Given the description of an element on the screen output the (x, y) to click on. 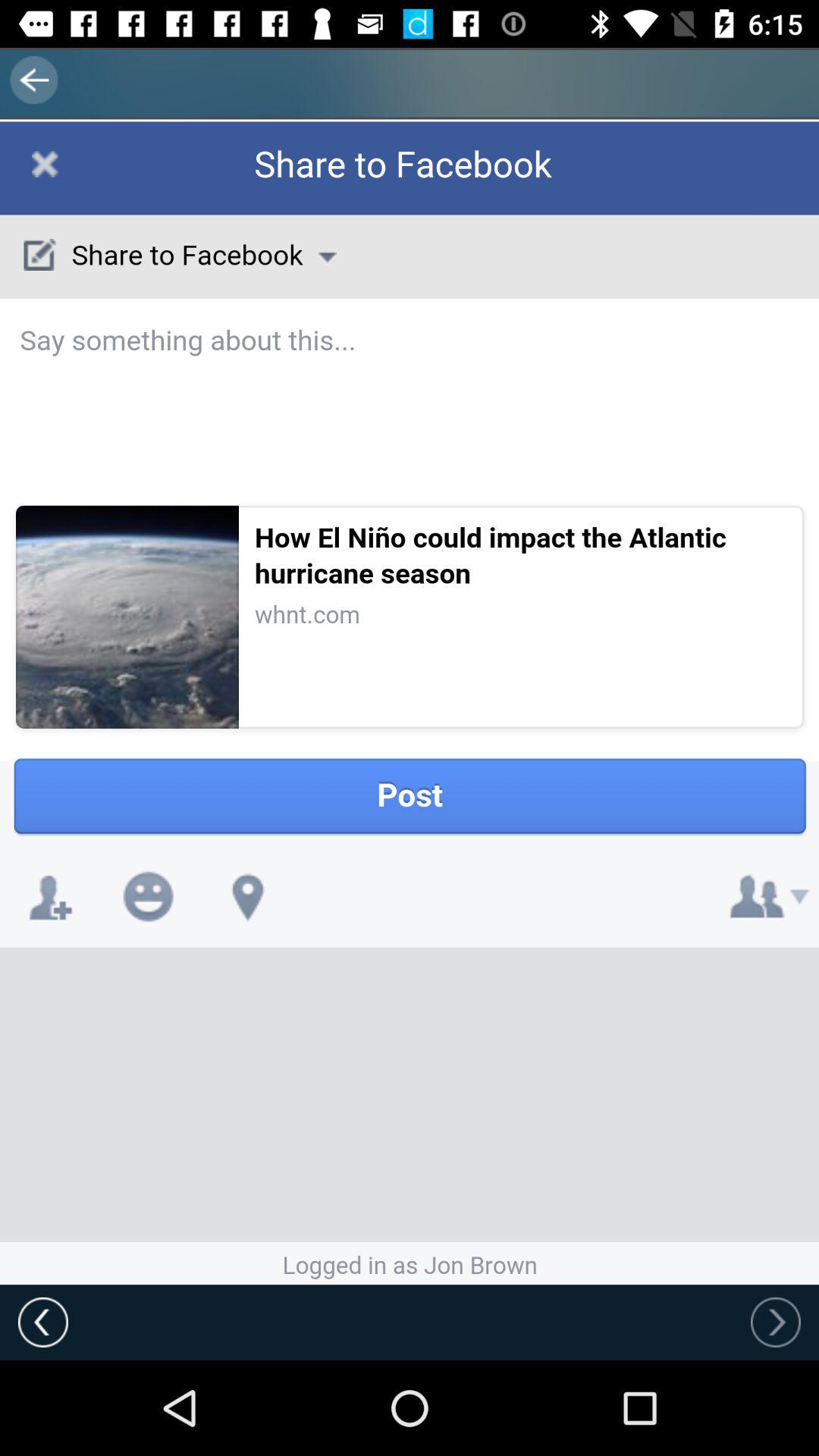
move page (409, 702)
